Given the description of an element on the screen output the (x, y) to click on. 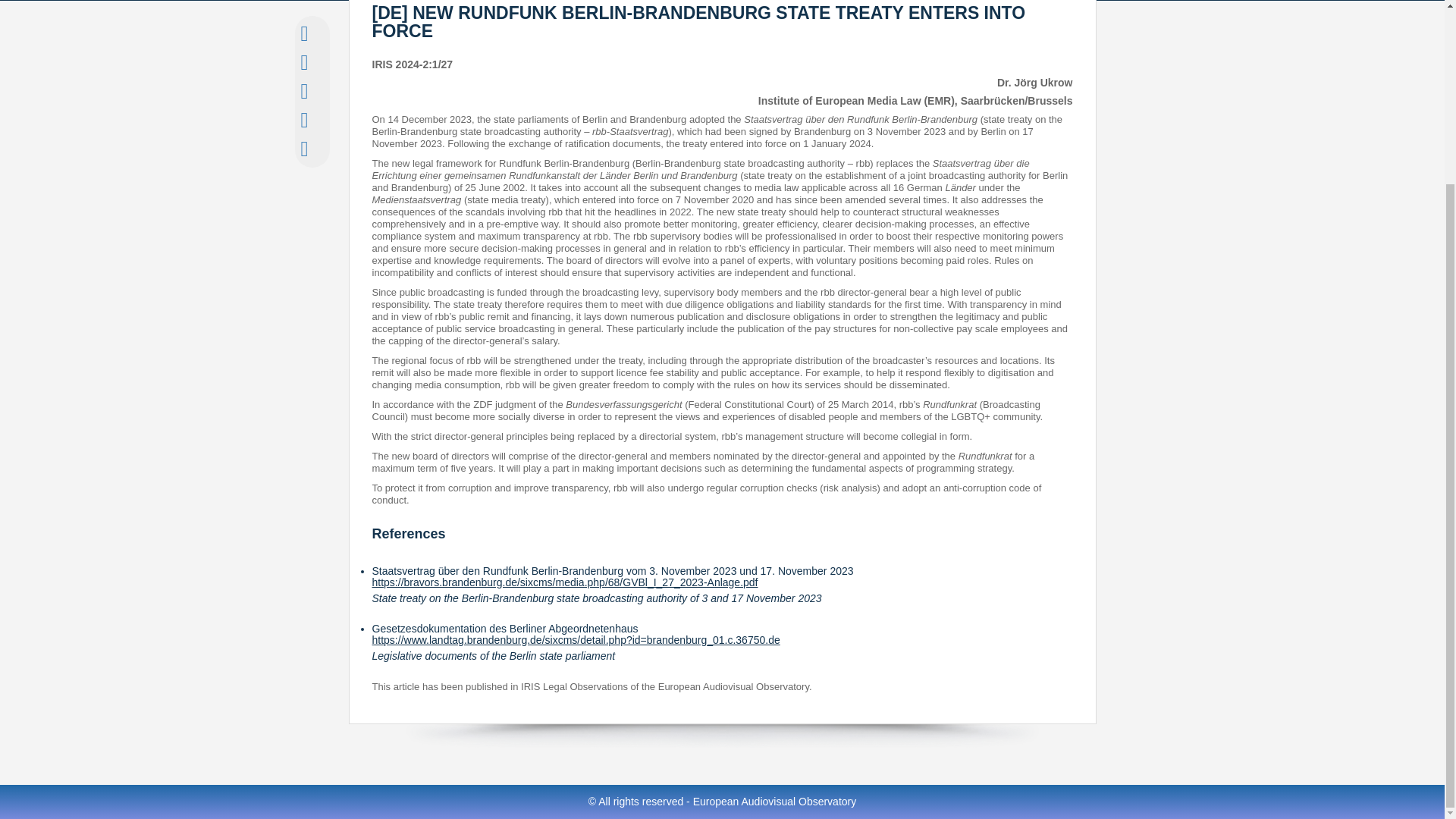
Article cart (303, 152)
Linkedin (303, 94)
Facebook (303, 37)
Twitter (303, 65)
